Given the description of an element on the screen output the (x, y) to click on. 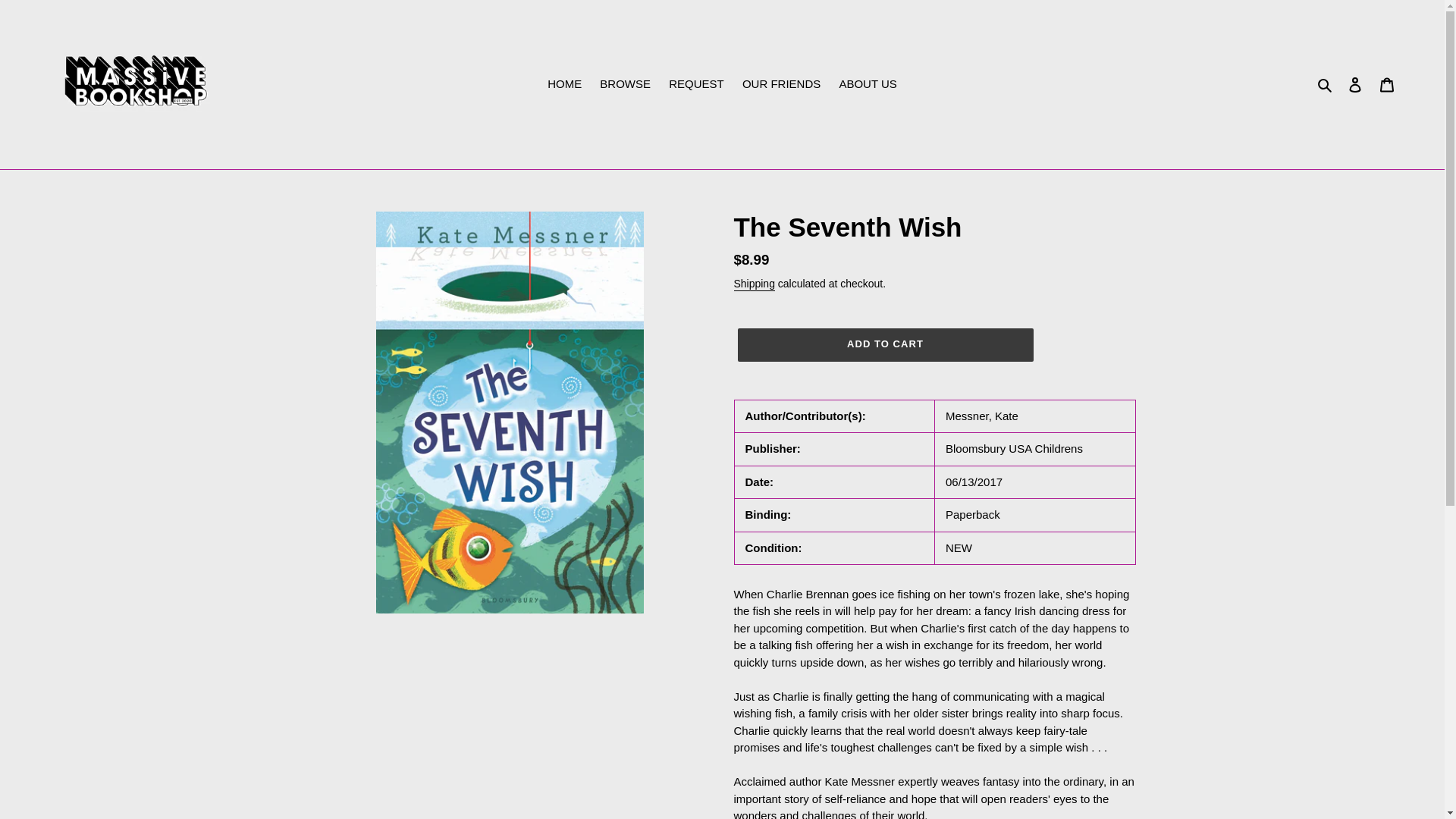
REQUEST (696, 84)
ADD TO CART (884, 344)
HOME (564, 84)
Shipping (753, 284)
Cart (1387, 83)
ABOUT US (867, 84)
OUR FRIENDS (781, 84)
Search (1326, 84)
Log in (1355, 83)
BROWSE (625, 84)
